Given the description of an element on the screen output the (x, y) to click on. 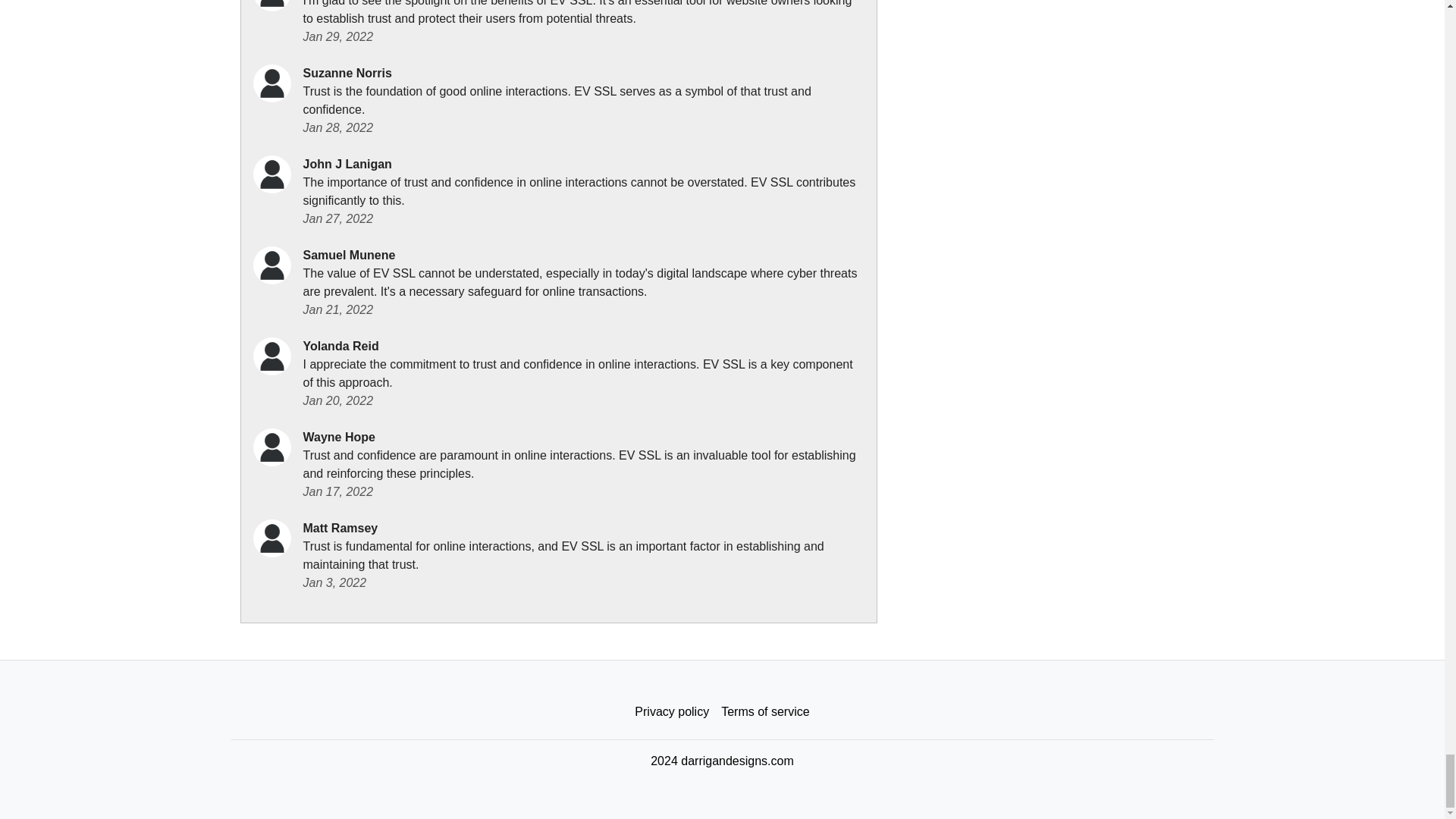
Privacy policy (671, 711)
Terms of service (764, 711)
